Given the description of an element on the screen output the (x, y) to click on. 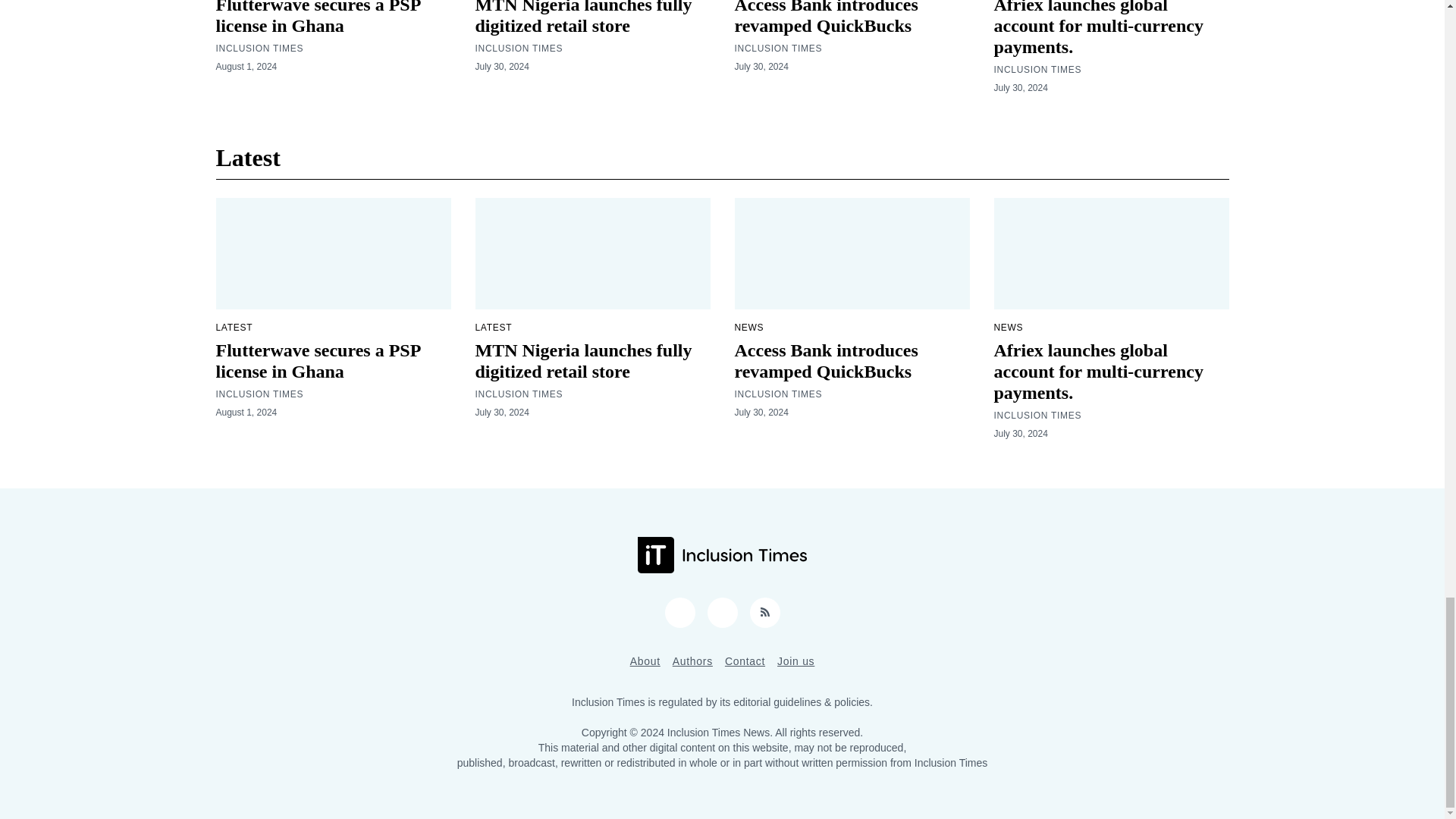
Access Bank introduces revamped QuickBucks (825, 18)
INCLUSION TIMES (1036, 69)
INCLUSION TIMES (258, 48)
MTN Nigeria launches fully digitized retail store (582, 18)
Afriex launches global account for multi-currency payments. (1097, 28)
INCLUSION TIMES (777, 48)
INCLUSION TIMES (518, 48)
Flutterwave secures a PSP license in Ghana (317, 18)
